Given the description of an element on the screen output the (x, y) to click on. 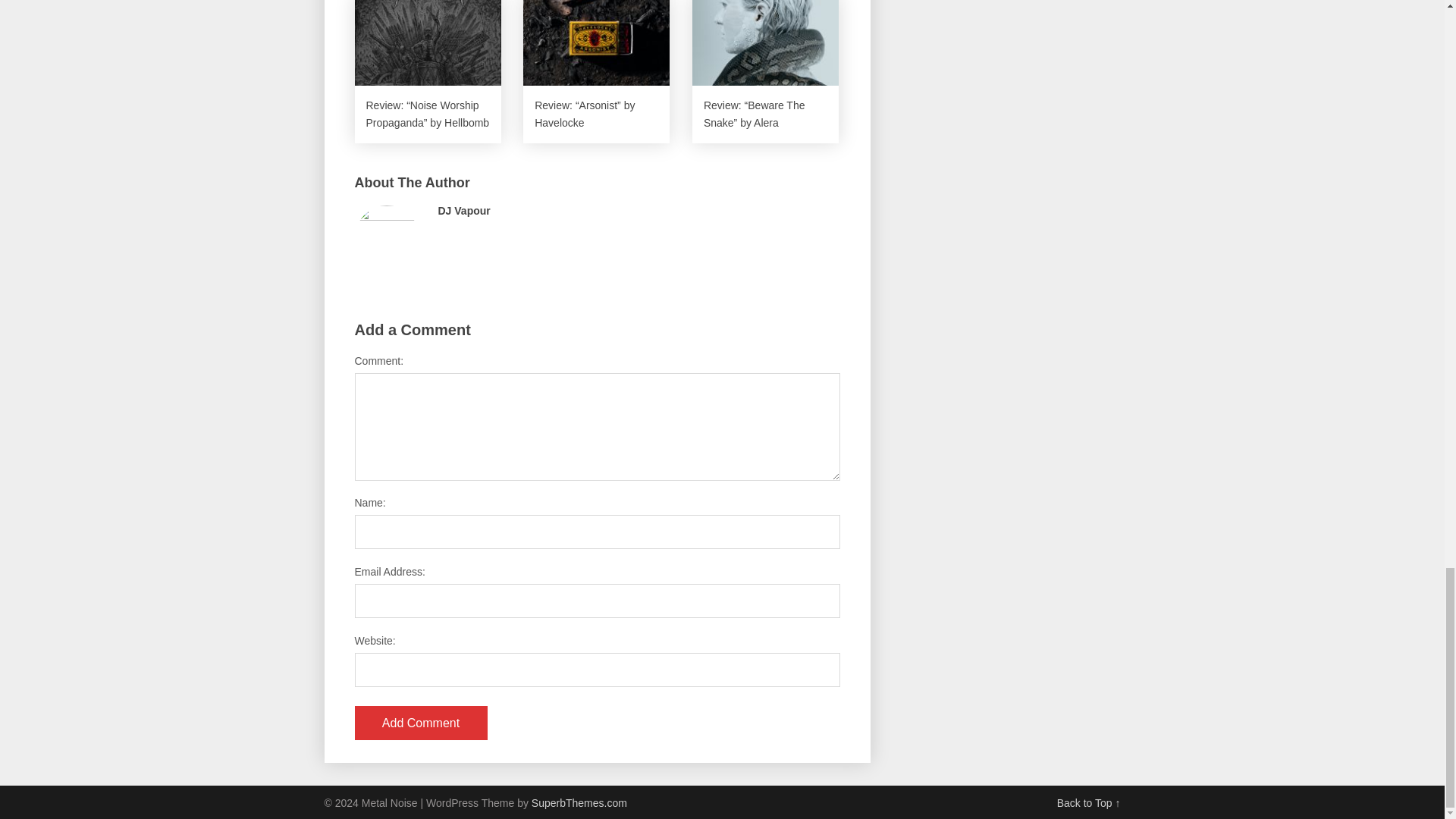
Add Comment (421, 722)
Add Comment (421, 722)
